Given the description of an element on the screen output the (x, y) to click on. 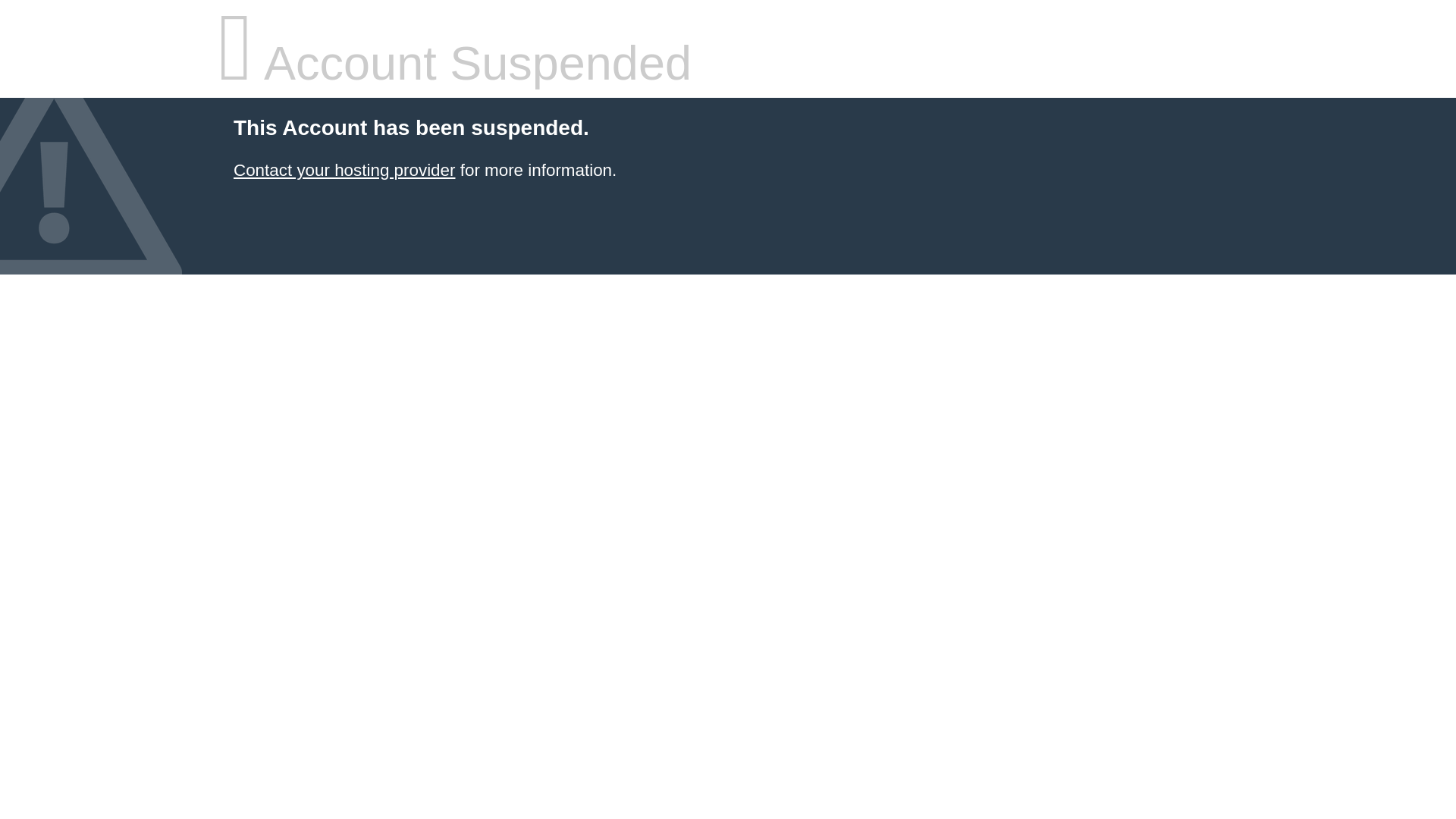
Contact your hosting provider (343, 169)
